Given the description of an element on the screen output the (x, y) to click on. 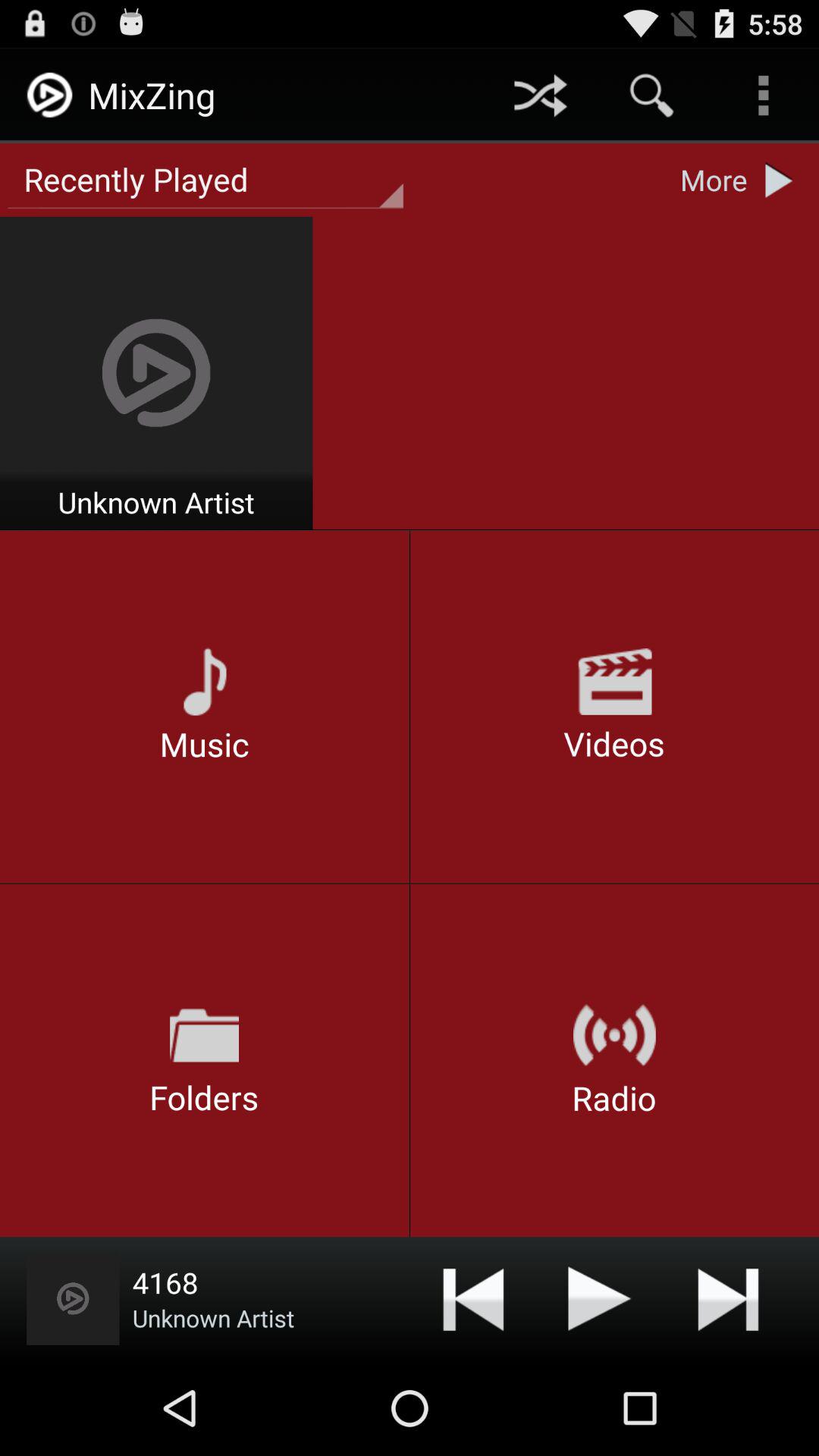
replay (72, 1298)
